Given the description of an element on the screen output the (x, y) to click on. 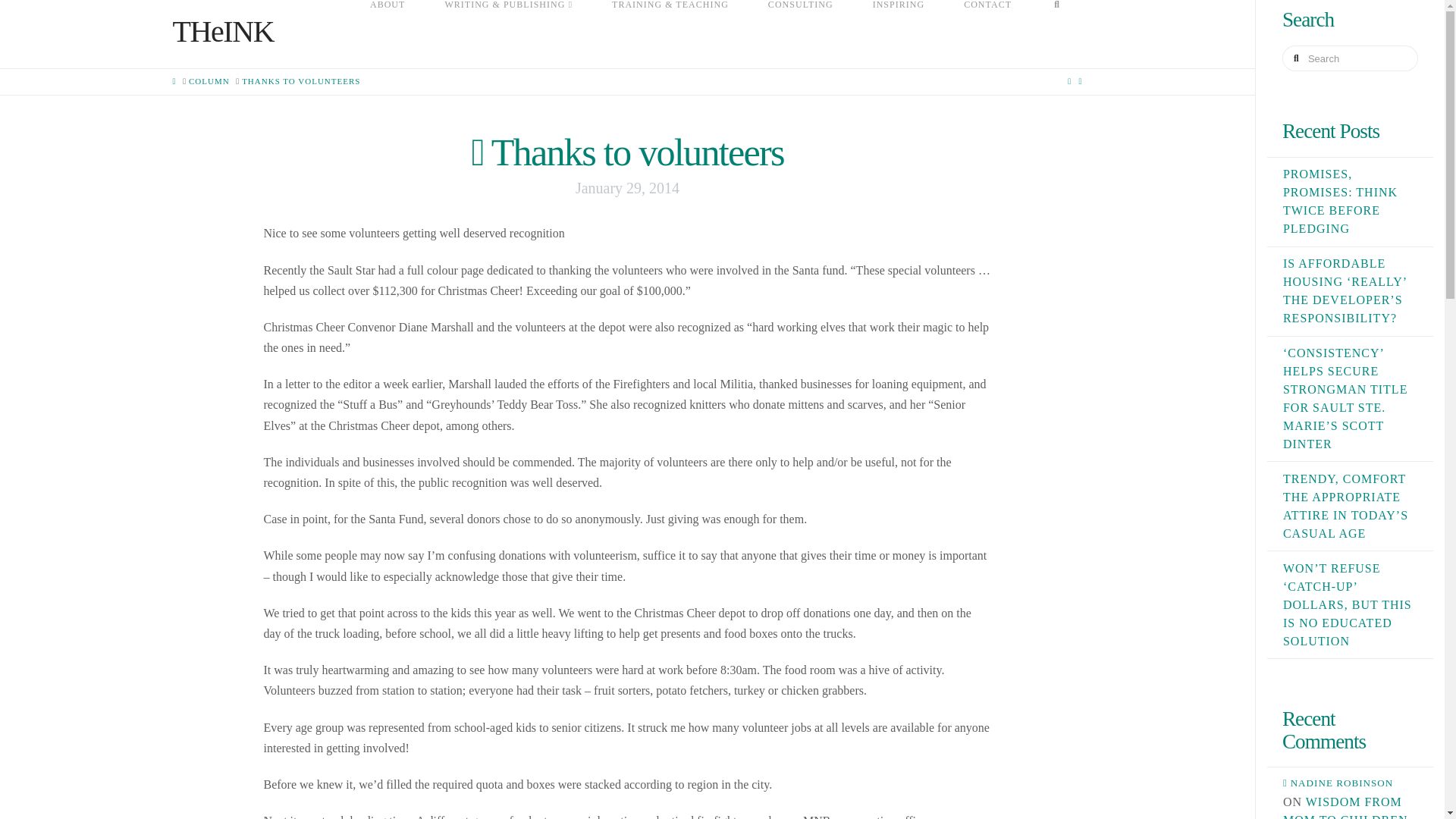
COLUMN (209, 81)
You Are Here (300, 81)
THeINK (224, 31)
CONTACT (986, 33)
PROMISES, PROMISES: THINK TWICE BEFORE PLEDGING (1339, 201)
THANKS TO VOLUNTEERS (300, 81)
ABOUT (387, 33)
CONSULTING (800, 33)
NADINE ROBINSON (1349, 783)
WISDOM FROM MOM TO CHILDREN (1344, 807)
INSPIRING (898, 33)
